Given the description of an element on the screen output the (x, y) to click on. 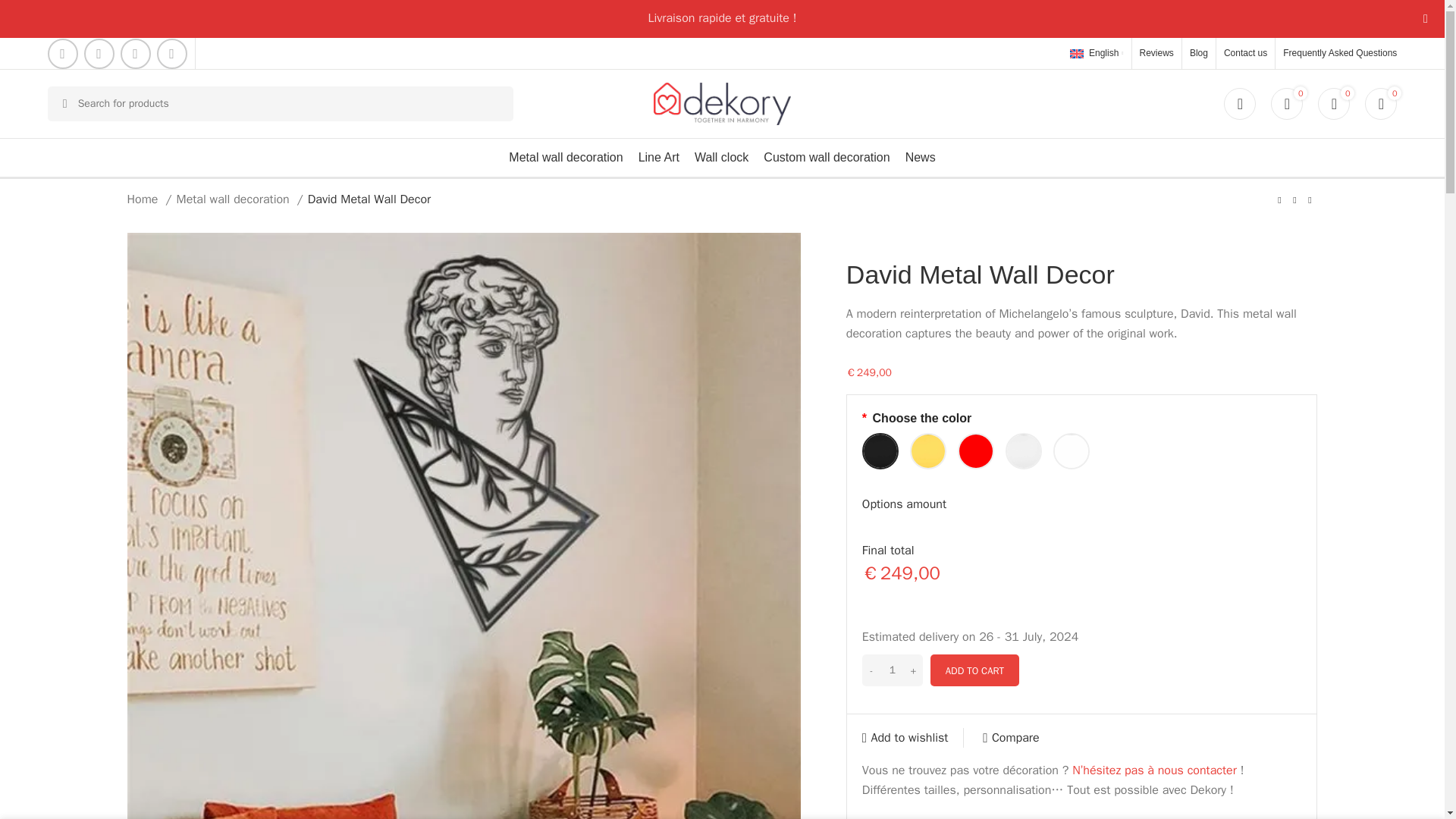
0 (1333, 103)
English (1097, 52)
My account (1239, 103)
0 (1380, 103)
Compare products (1333, 103)
Shopping cart (1380, 103)
Reviews (1156, 52)
Contact us (1245, 52)
Frequently Asked Questions (1339, 52)
Search for products (280, 103)
My Wishlist (1286, 103)
Log in (1130, 352)
0 (1286, 103)
SEARCH (65, 103)
